Given the description of an element on the screen output the (x, y) to click on. 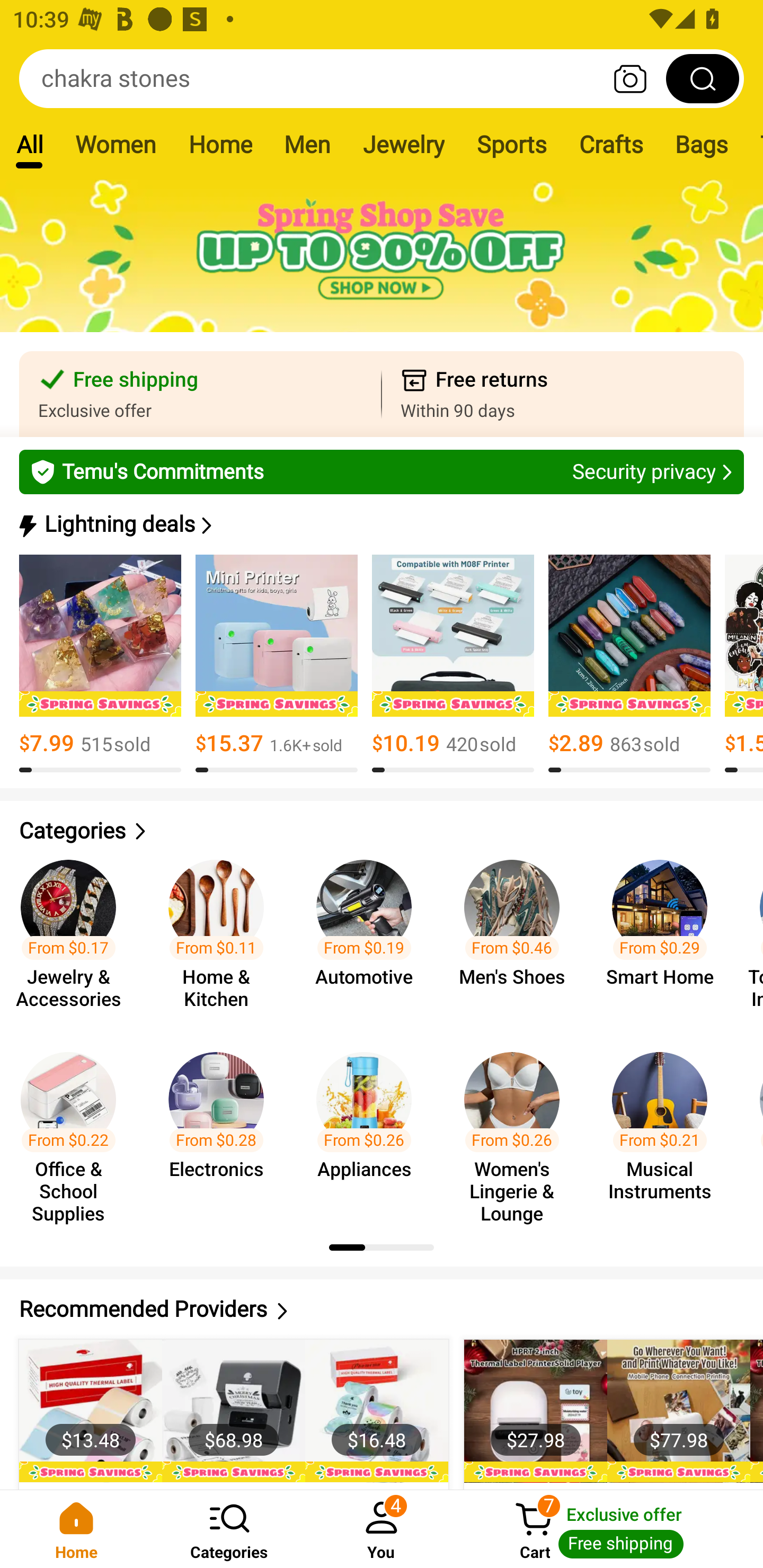
chakra stones (381, 78)
All (29, 144)
Women (115, 144)
Home (219, 144)
Men (306, 144)
Jewelry (403, 144)
Sports (511, 144)
Crafts (611, 144)
Bags (701, 144)
Free shipping Exclusive offer (200, 394)
Free returns Within 90 days (562, 394)
Temu's Commitments (381, 471)
Lightning deals (379, 524)
$7.99 515￼sold 8.0 (100, 664)
$15.37 1.6K+￼sold 8.0 (276, 664)
$10.19 420￼sold 8.0 (453, 664)
$2.89 863￼sold 8.0 (629, 664)
Categories (381, 830)
From $0.17 Jewelry & Accessories (74, 936)
From $0.11 Home & Kitchen (222, 936)
From $0.19 Automotive (369, 936)
From $0.46 Men's Shoes (517, 936)
From $0.29 Smart Home (665, 936)
From $0.22 Office & School Supplies (74, 1128)
From $0.28 Electronics (222, 1128)
From $0.26 Appliances (369, 1128)
From $0.26 Women's Lingerie & Lounge (517, 1128)
From $0.21 Musical Instruments (665, 1128)
Recommended Providers (381, 1309)
Home (76, 1528)
Categories (228, 1528)
You 4 You (381, 1528)
Cart 7 Cart Exclusive offer (610, 1528)
